Given the description of an element on the screen output the (x, y) to click on. 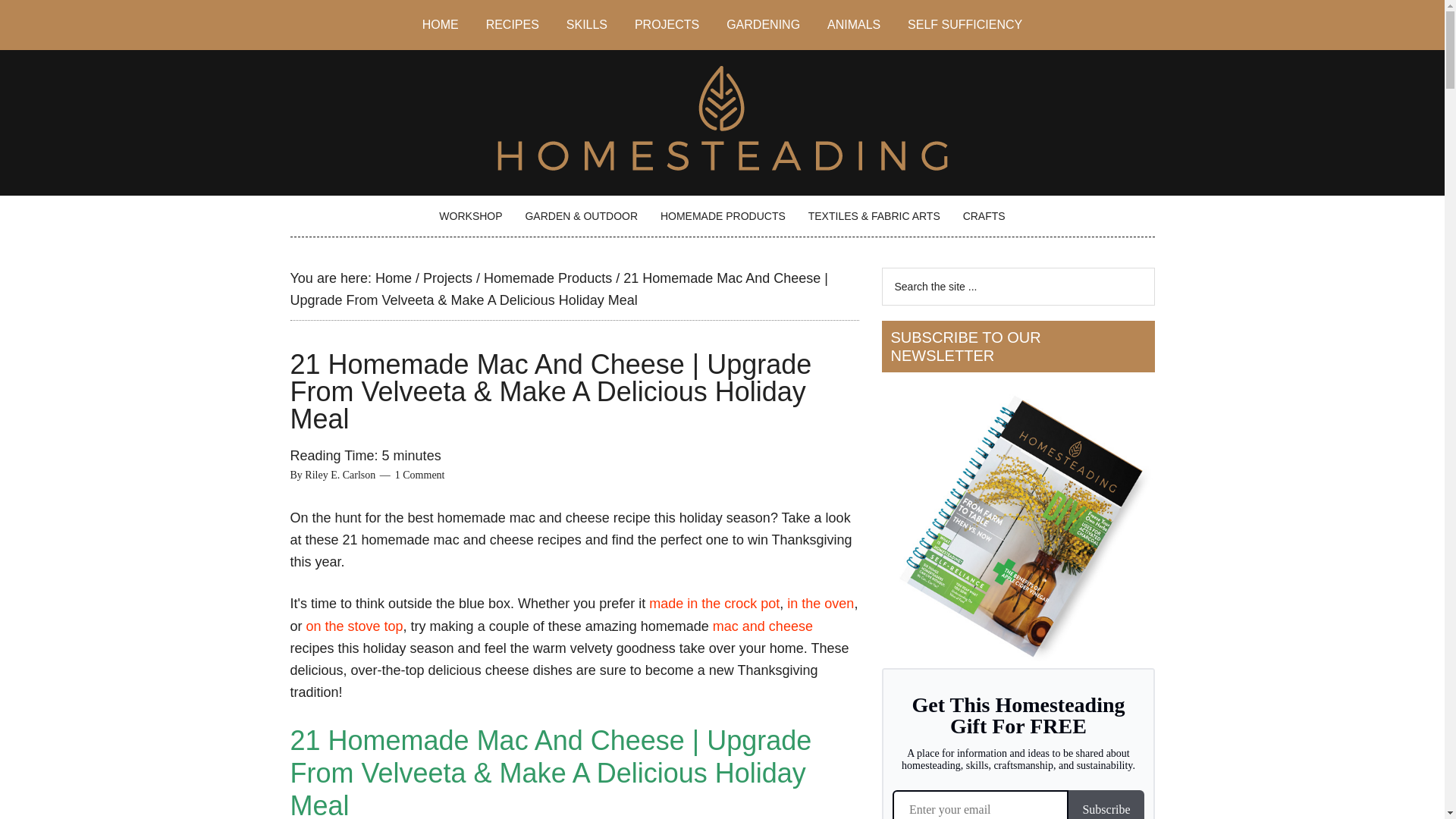
Self Sufficiency (964, 24)
RECIPES (512, 24)
PROJECTS (667, 24)
SKILLS (587, 24)
HOME (440, 24)
